Given the description of an element on the screen output the (x, y) to click on. 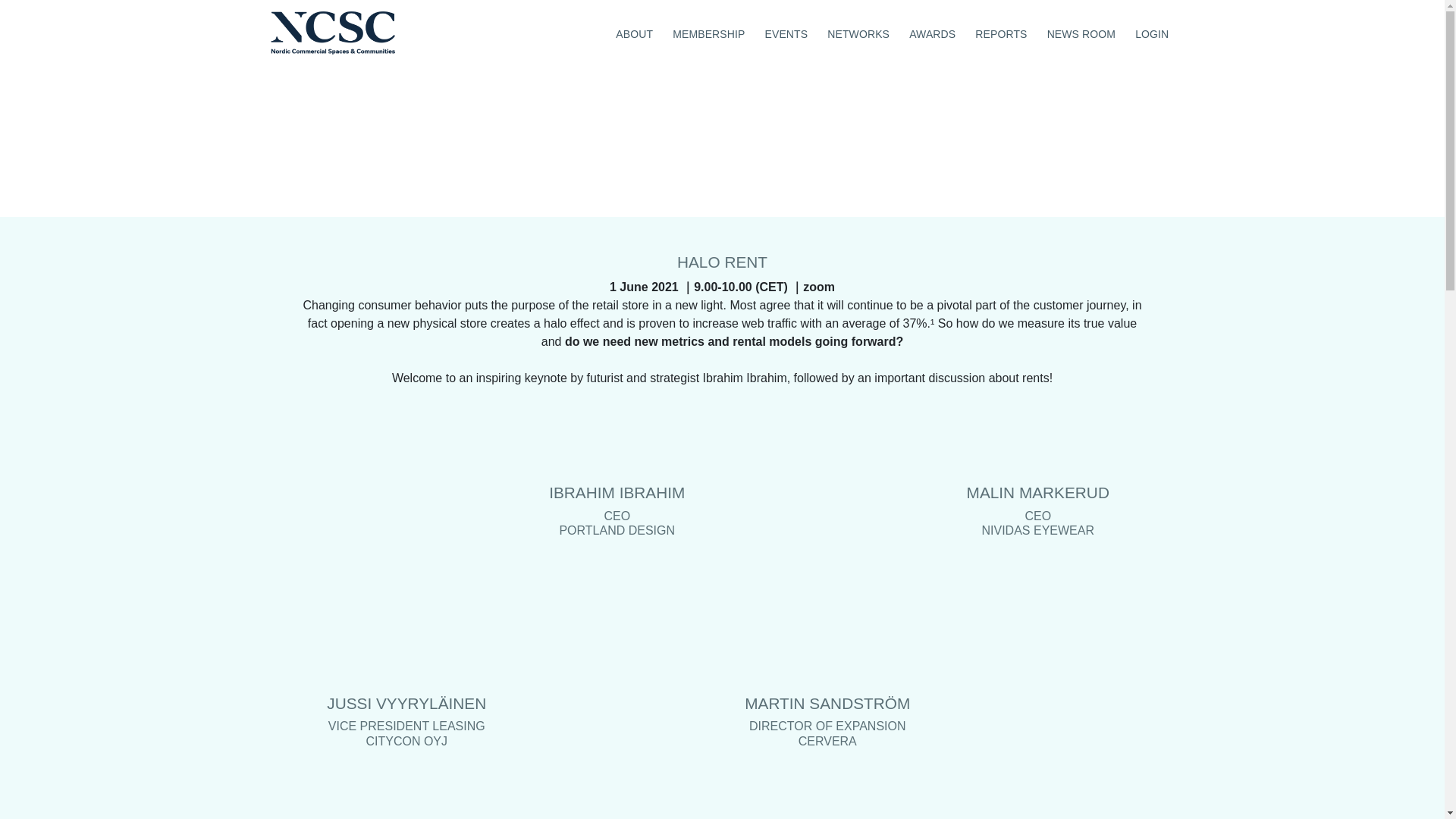
AWARDS (932, 31)
MEMBERSHIP (708, 31)
NETWORKS (857, 31)
EVENTS (786, 31)
REPORTS (1001, 31)
NEWS ROOM (1080, 31)
